Given the description of an element on the screen output the (x, y) to click on. 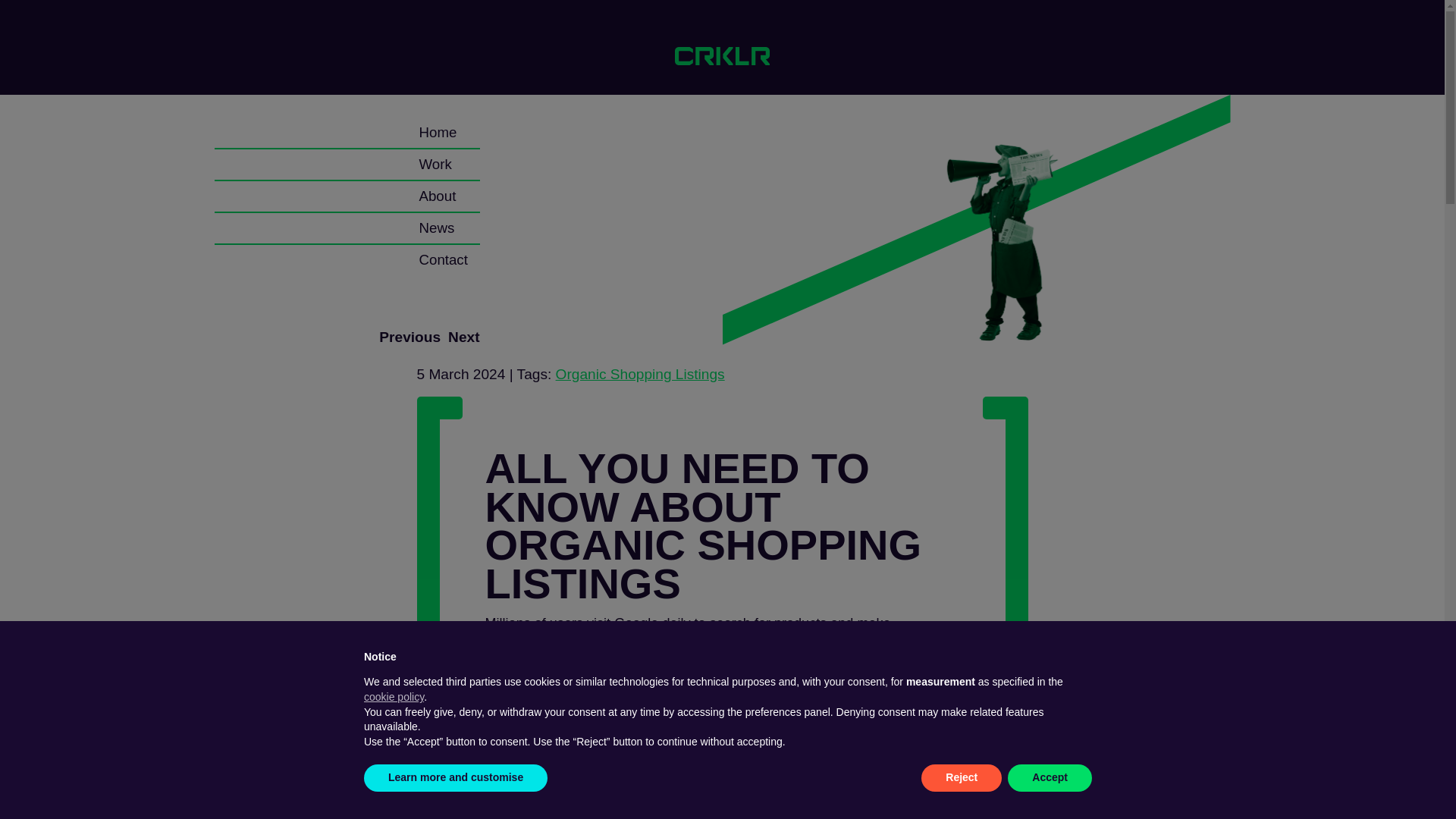
Previous (409, 337)
Home (438, 133)
About (437, 196)
Accept (1049, 777)
News (436, 228)
Learn more and customise (455, 777)
Organic Shopping Listings (640, 374)
Reject (961, 777)
Contact (443, 260)
Next (463, 337)
Work (435, 164)
cookie policy (393, 696)
